Given the description of an element on the screen output the (x, y) to click on. 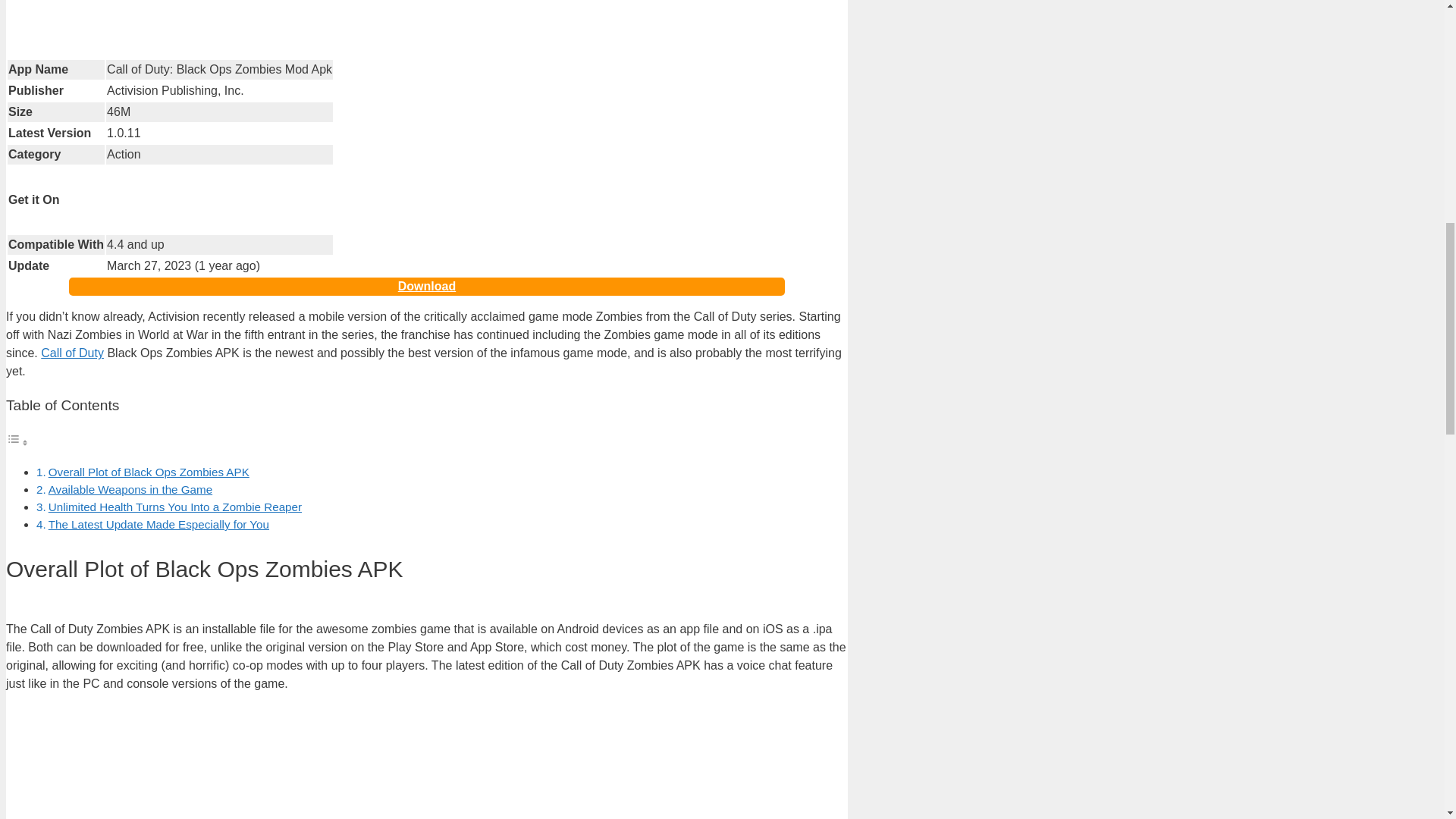
Unlimited Health Turns You Into a Zombie Reaper (174, 506)
Available Weapons in the Game (130, 489)
The Latest Update Made Especially for You (158, 523)
Available Weapons in the Game (130, 489)
Unlimited Health Turns You Into a Zombie Reaper (174, 506)
The Latest Update Made Especially for You (158, 523)
Overall Plot of Black Ops Zombies APK (148, 472)
Call of Duty (71, 352)
Download (426, 286)
Overall Plot of Black Ops Zombies APK (148, 472)
